Given the description of an element on the screen output the (x, y) to click on. 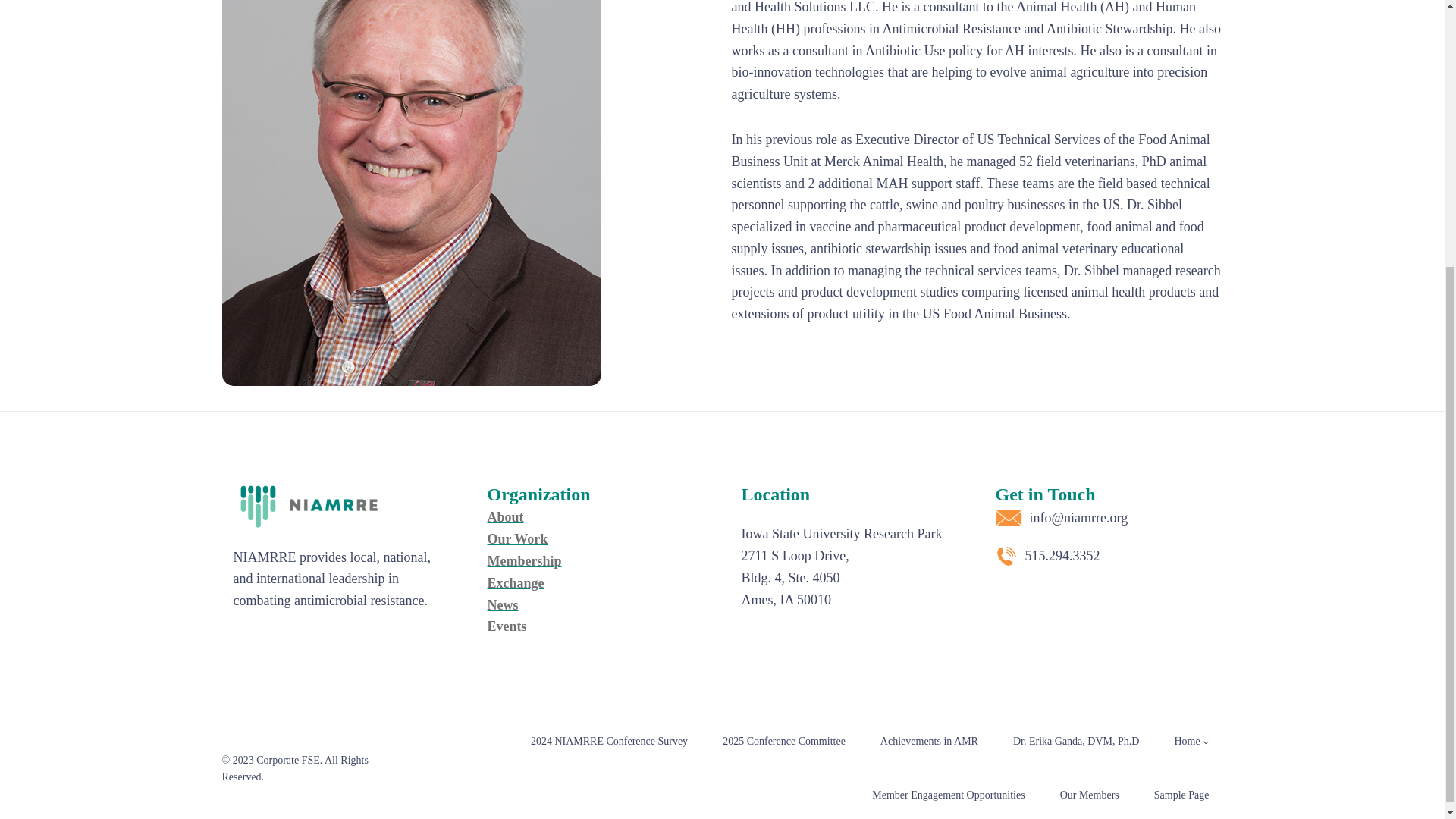
Membership (523, 560)
News (502, 604)
Our Work (516, 539)
Events (505, 626)
Exchange (514, 582)
About (504, 516)
